Given the description of an element on the screen output the (x, y) to click on. 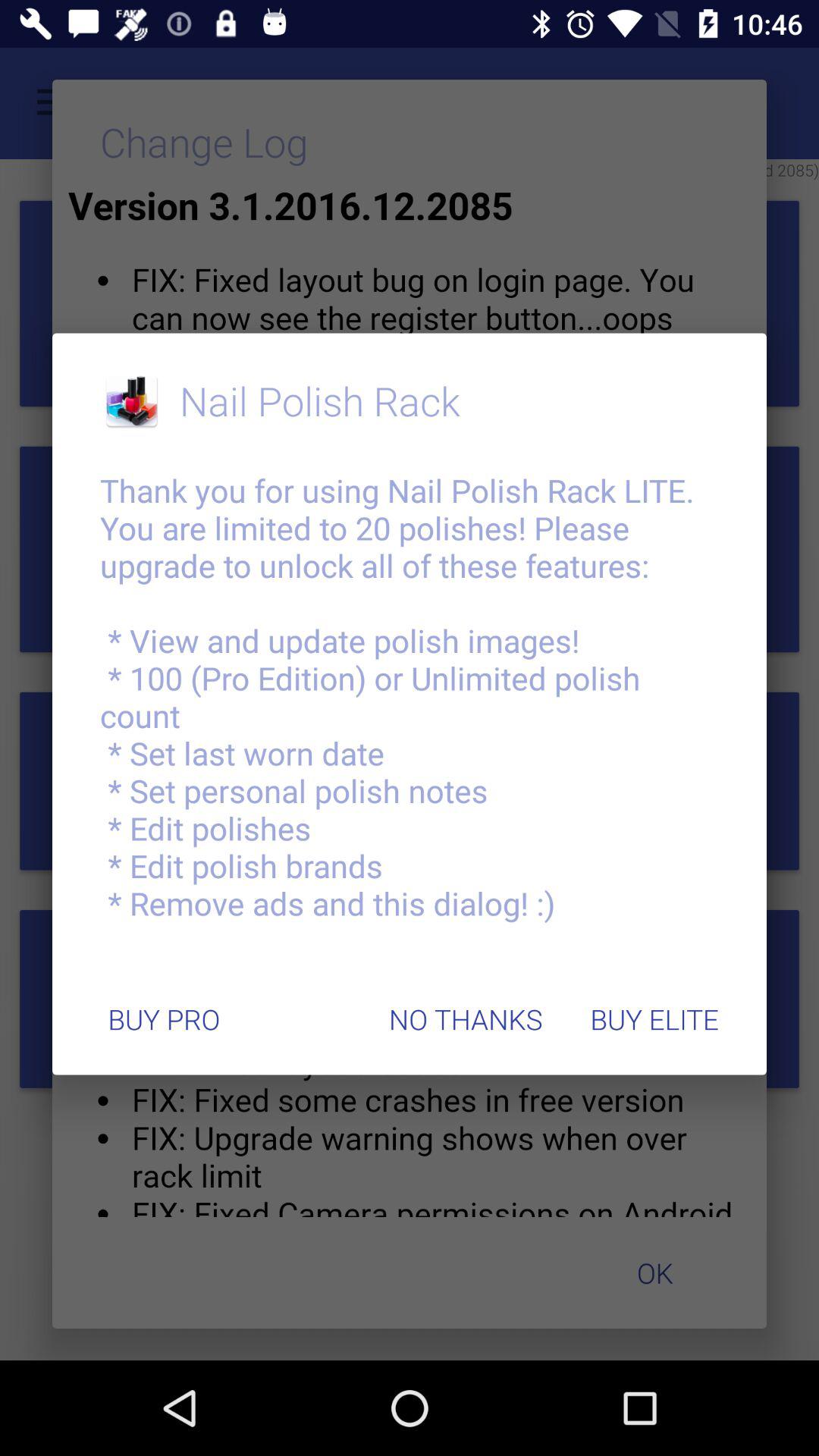
turn on icon at the bottom (465, 1018)
